Given the description of an element on the screen output the (x, y) to click on. 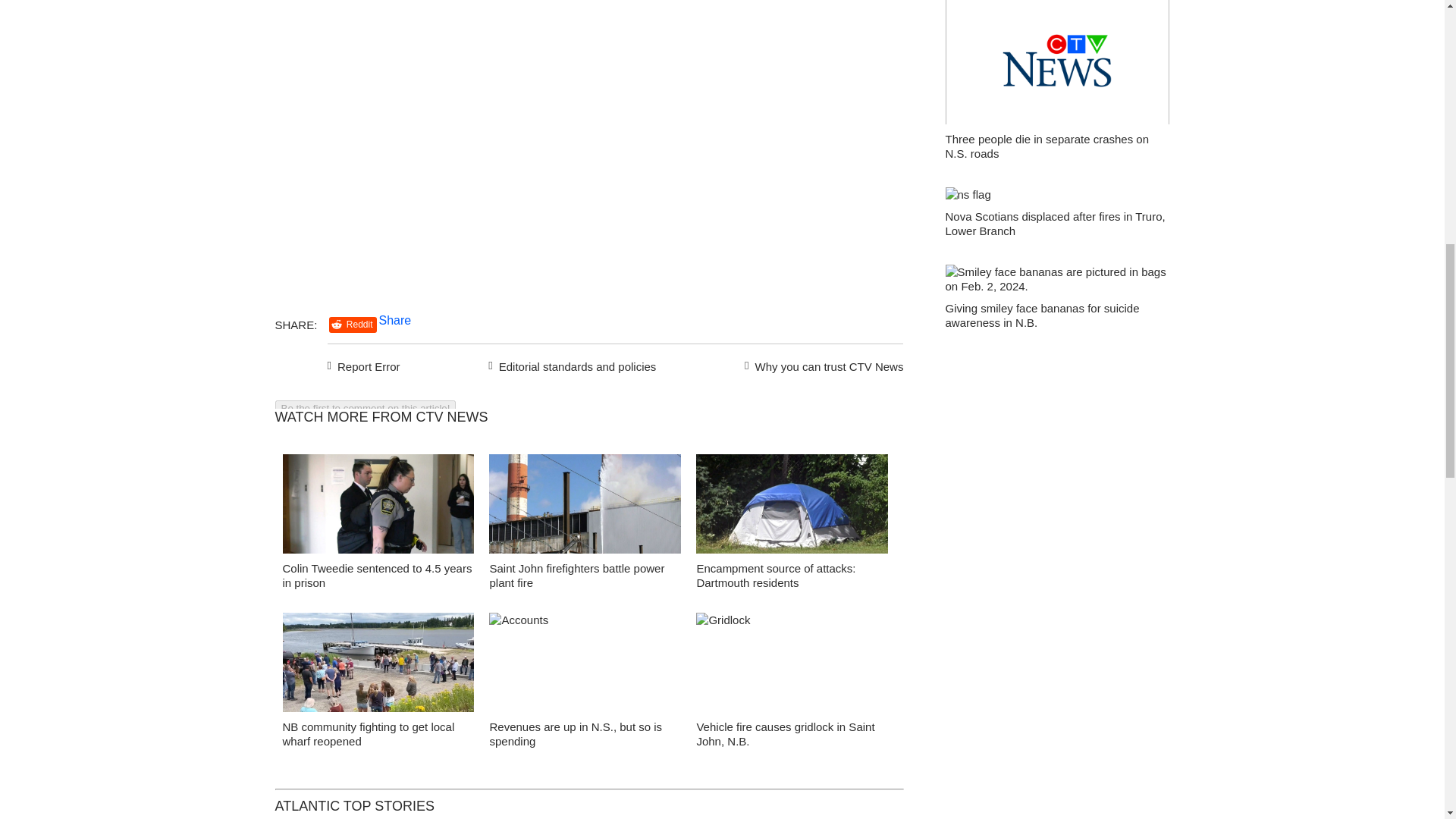
Accounts (585, 666)
false (378, 661)
false (585, 661)
Saint John firefighters battle power plant fire (585, 507)
false (585, 503)
Editorial standards and policies (569, 363)
NB community fighting to get local wharf reopened (368, 733)
false (791, 661)
Share (395, 319)
Why you can trust CTV News (820, 363)
Report Error (363, 363)
false (378, 503)
Gridlock (791, 666)
Saint John firefighters battle power plant fire (576, 574)
Encampment the source attacks: Dartmouth residents (791, 507)
